Given the description of an element on the screen output the (x, y) to click on. 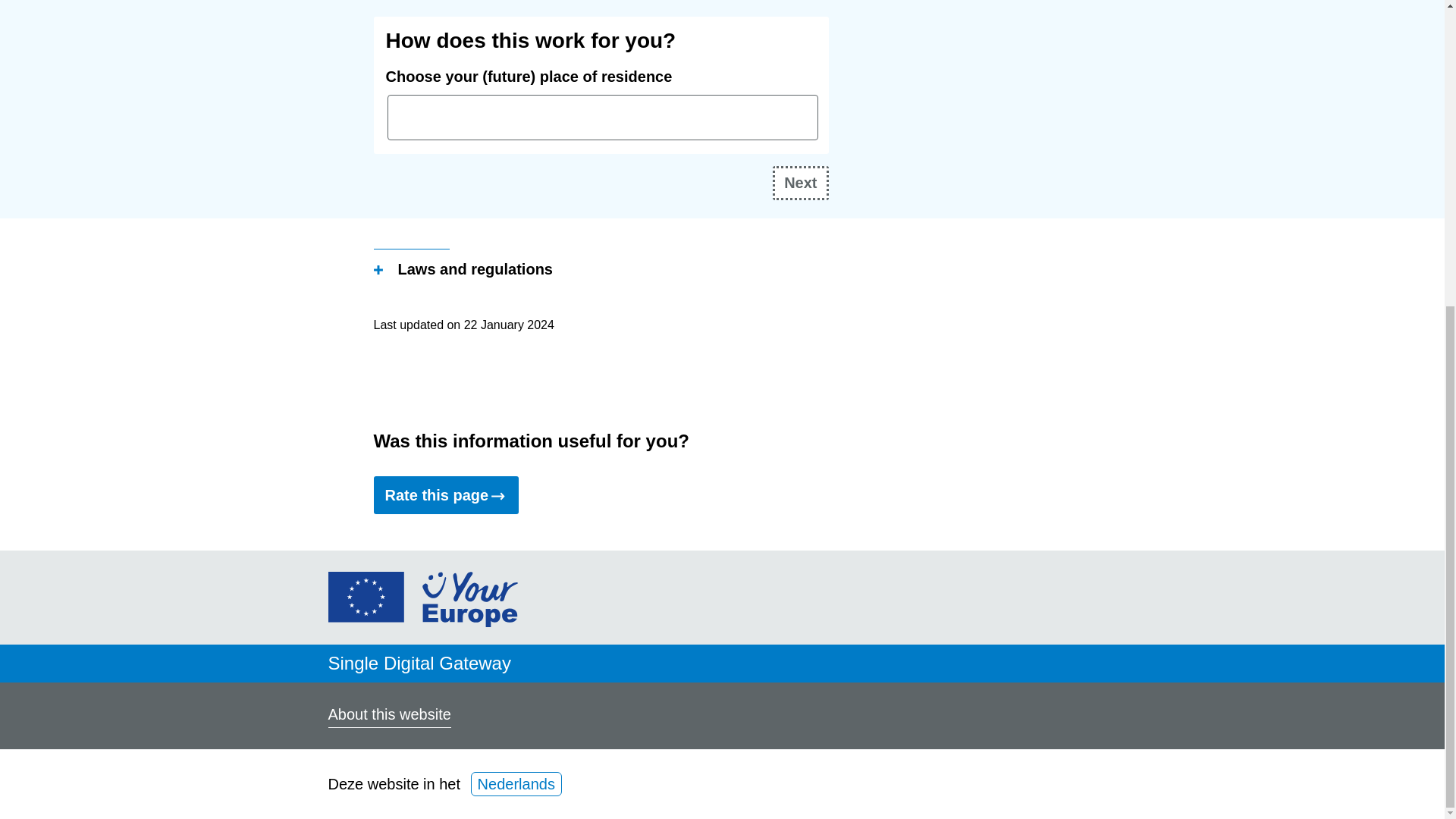
Laws and regulations (461, 270)
Go to the European Union's Your Europe portal homepage (421, 621)
About this website (388, 715)
Next (800, 182)
Rate this page (445, 494)
Nederlands (516, 784)
